Given the description of an element on the screen output the (x, y) to click on. 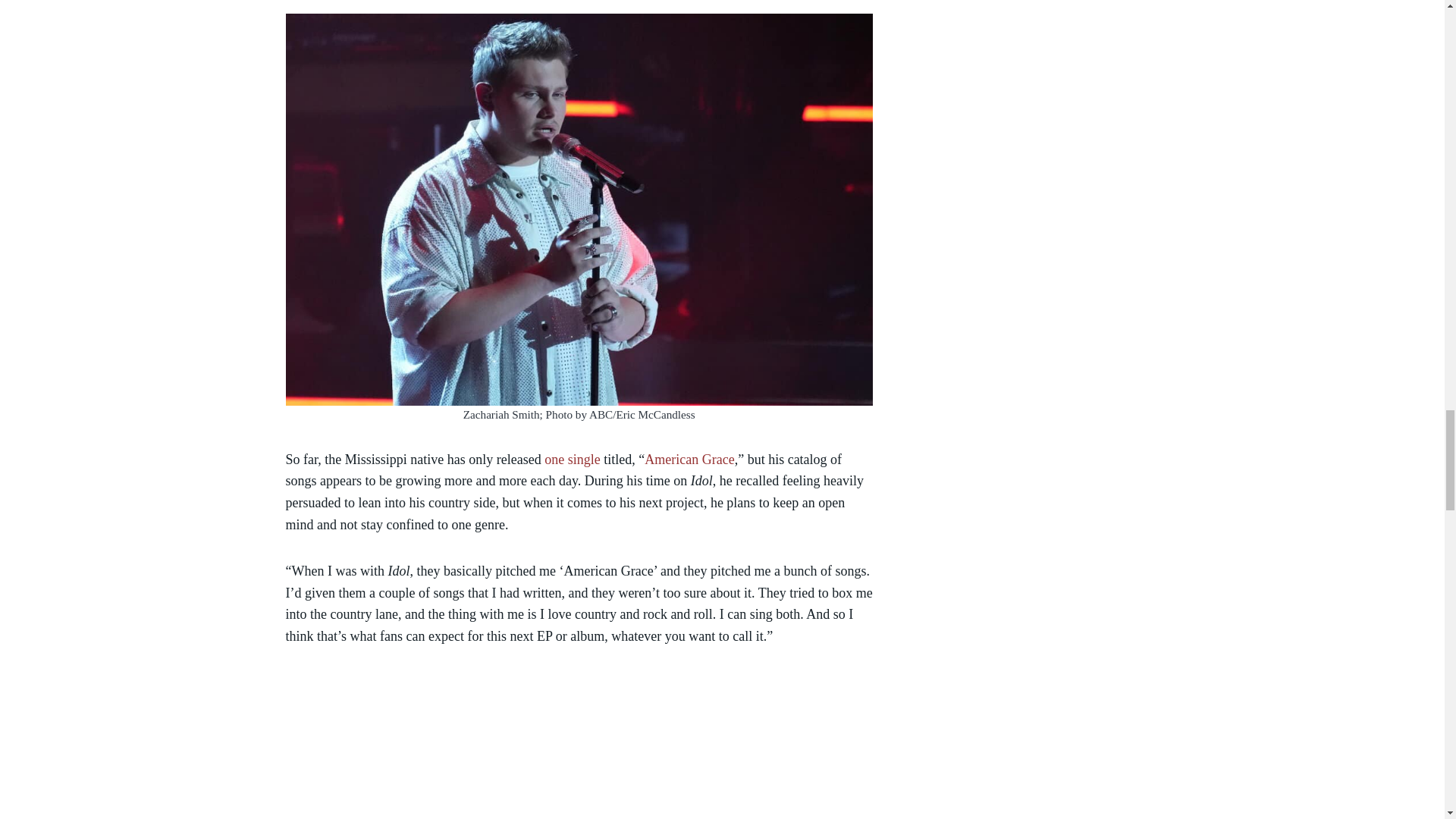
American Grace (689, 459)
one single (571, 459)
